Given the description of an element on the screen output the (x, y) to click on. 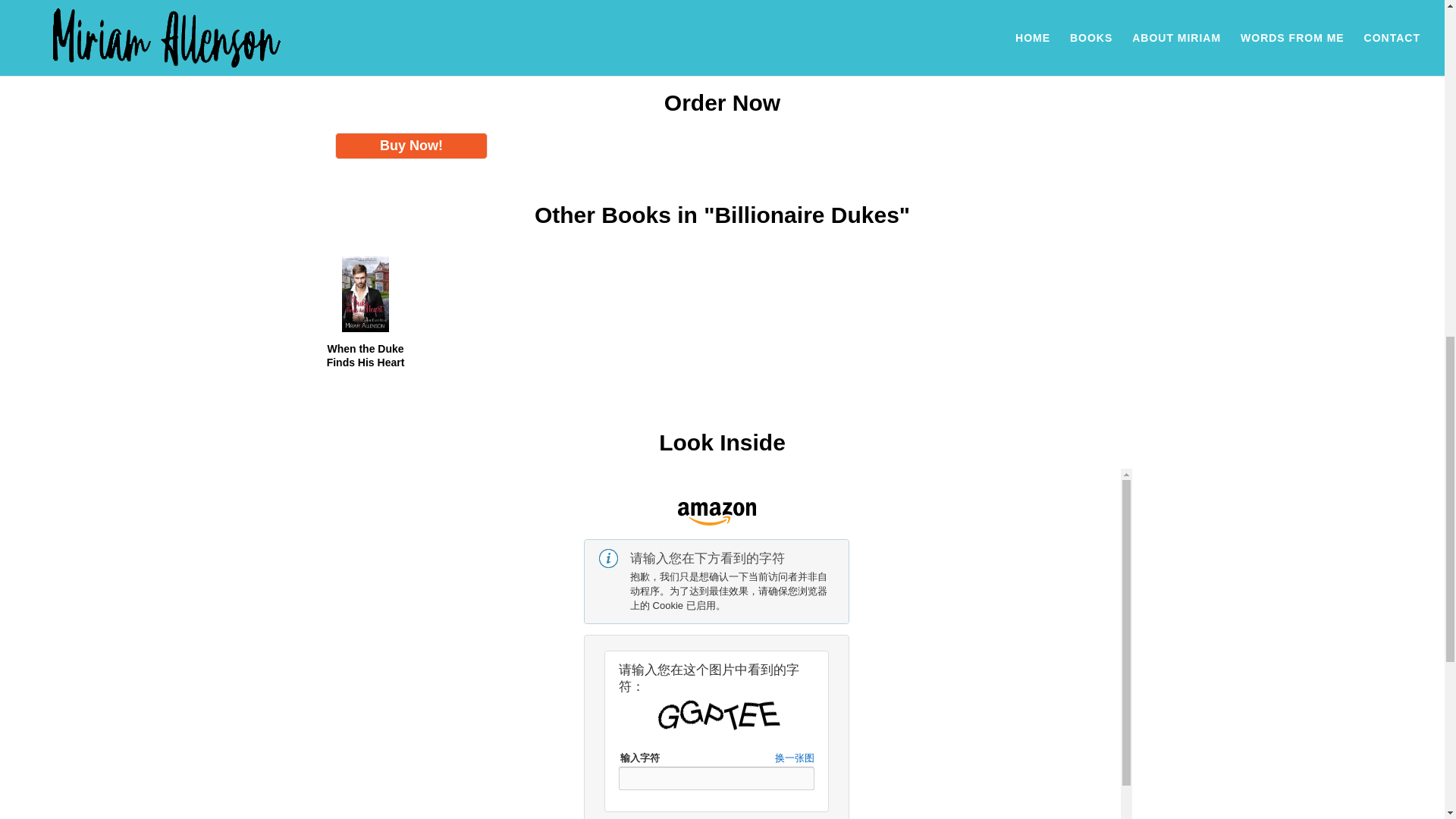
Miriam Allenson (405, 4)
Billionaire Dukes (405, 21)
Buy Now! (410, 145)
When the Duke Finds His Heart (365, 355)
